Given the description of an element on the screen output the (x, y) to click on. 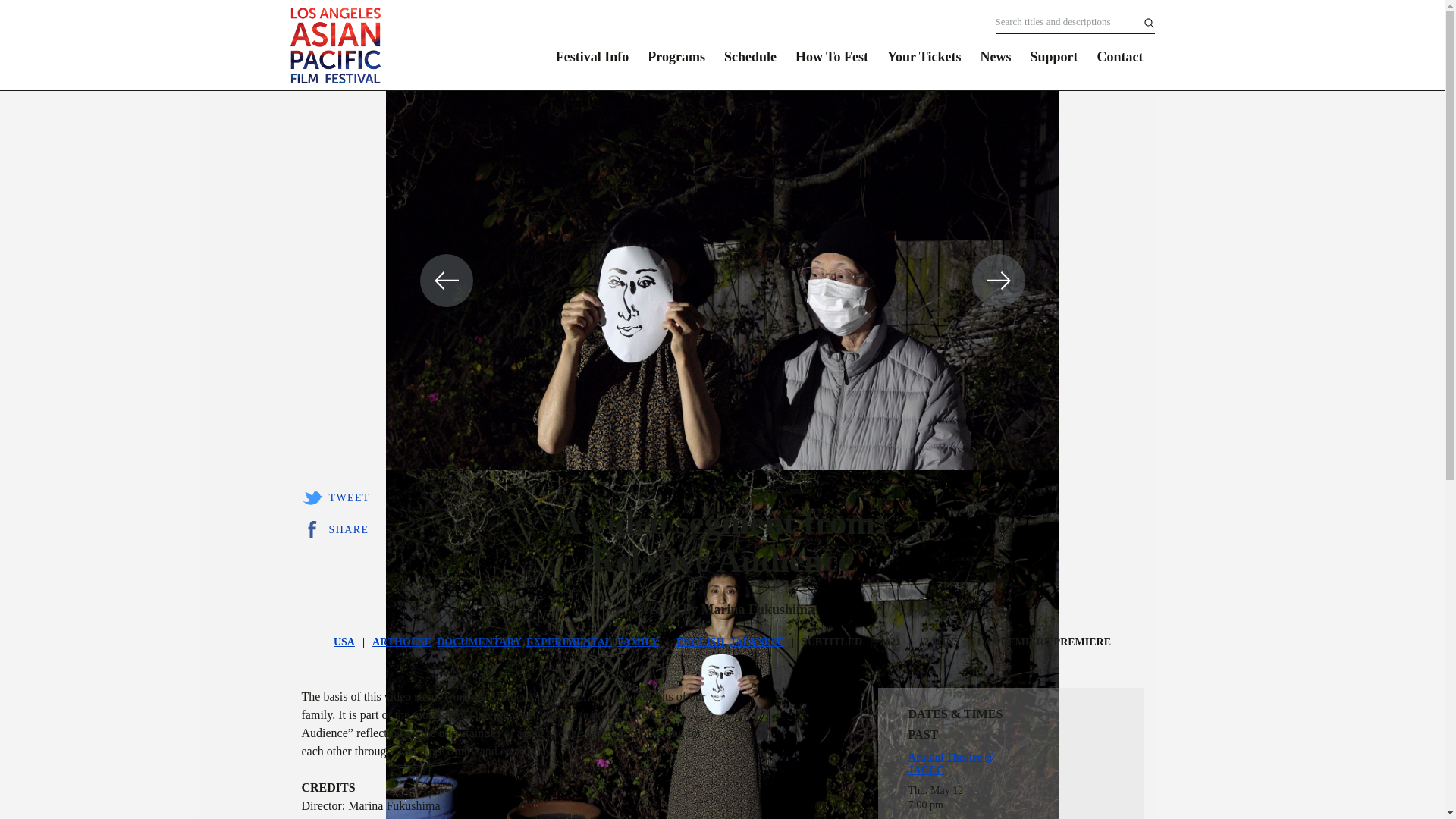
ENGLISH (701, 641)
Programs (675, 56)
JAPANESE (757, 641)
ARTHOUSE (401, 641)
DOCUMENTARY (478, 641)
SHARE (335, 528)
EXPERIMENTAL (568, 641)
FAMILY (637, 641)
USA (344, 641)
How To Fest (830, 56)
